Given the description of an element on the screen output the (x, y) to click on. 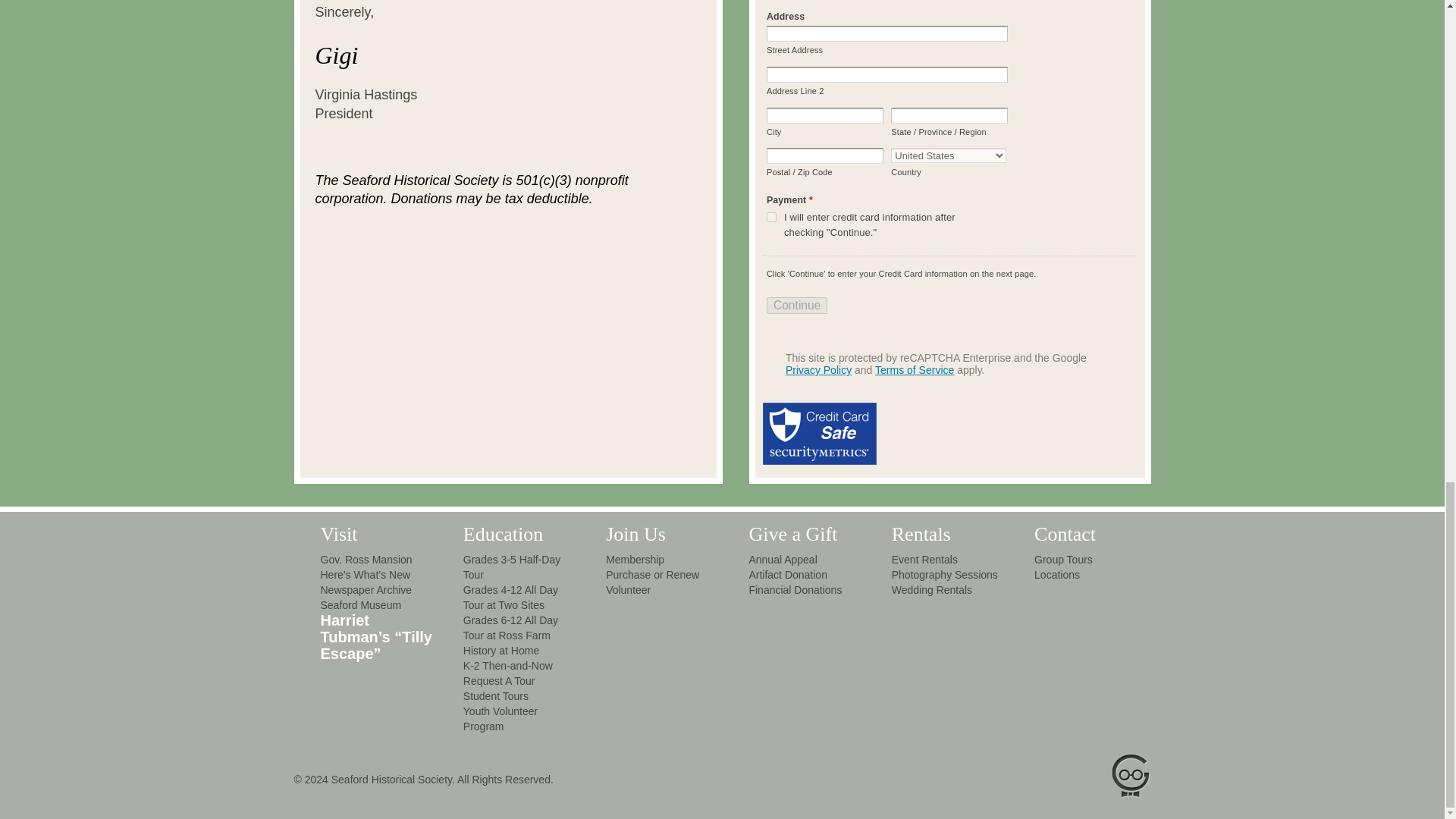
Click Here to visit Techno Goober's website (1115, 776)
